Given the description of an element on the screen output the (x, y) to click on. 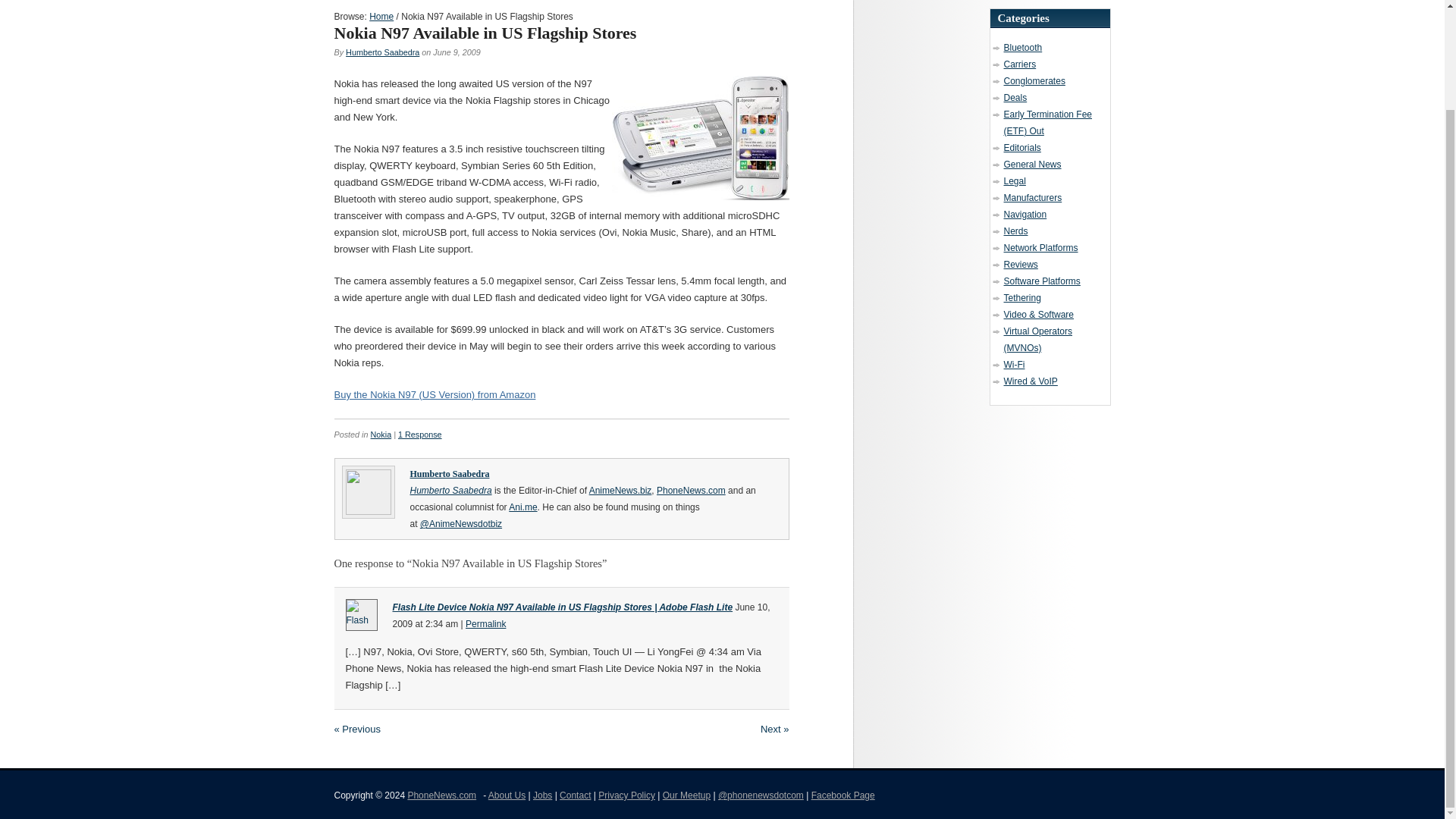
Humberto Saabedra (382, 51)
Permalink (485, 624)
Tuesday, June 9th, 2009, 2:55 pm (456, 51)
Permalink to comment 28308 (485, 624)
Ani.me (522, 507)
Humberto Saabedra (382, 51)
Posts by Humberto Saabedra (449, 473)
Comment on Nokia N97 Available in US Flagship Stores (419, 433)
Bluetooth (1023, 47)
PhoneNews.com (441, 795)
Wednesday, June 10th, 2009, 2:34 am (581, 615)
AnimeNews.biz (620, 490)
Nokia (381, 433)
Home (381, 16)
PhoneNews.com (690, 490)
